Given the description of an element on the screen output the (x, y) to click on. 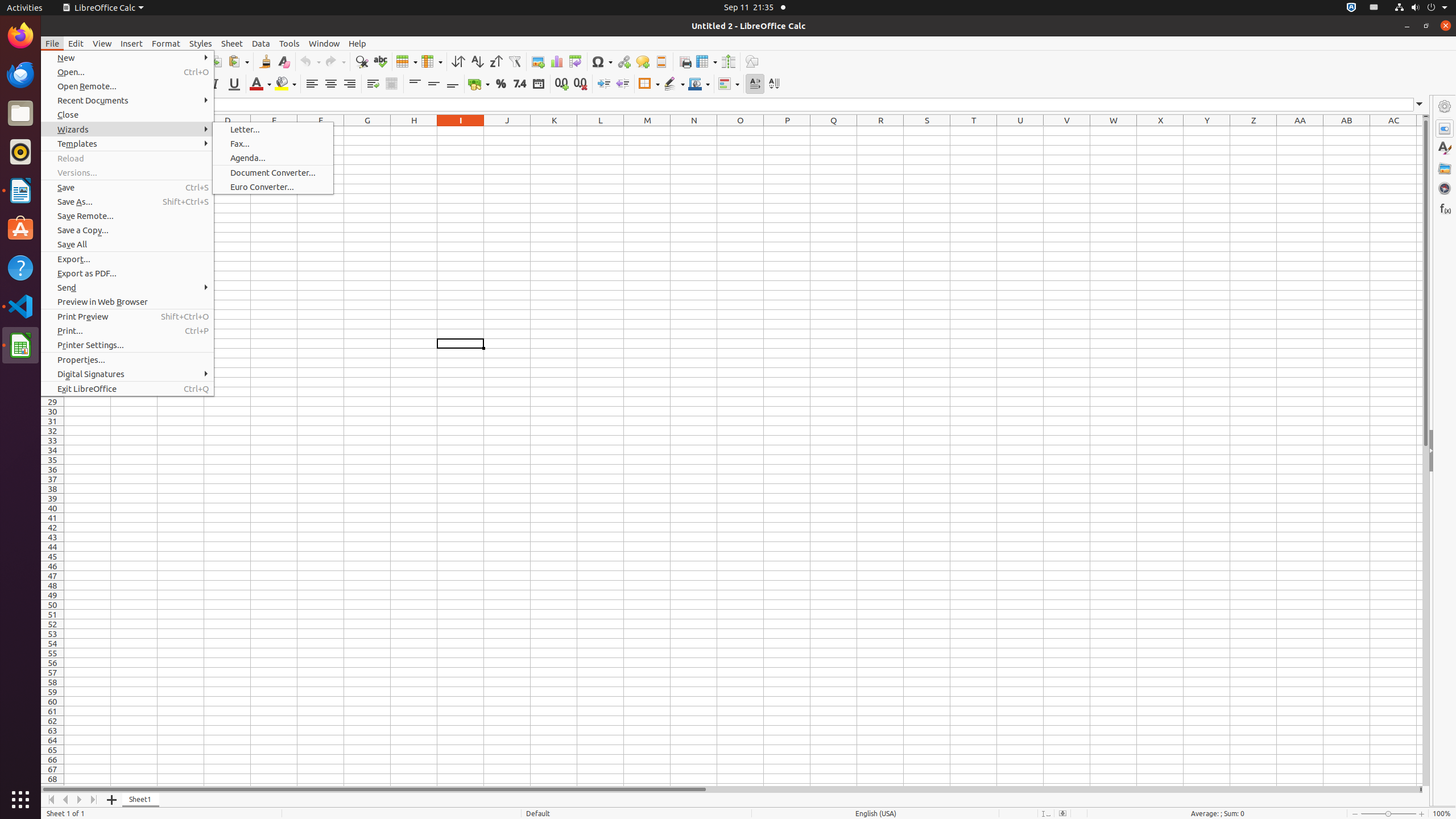
Sort Element type: push-button (457, 61)
AD1 Element type: table-cell (1419, 130)
Exit LibreOffice Element type: menu-item (126, 388)
Row Element type: push-button (406, 61)
Save All Element type: menu-item (126, 244)
